Given the description of an element on the screen output the (x, y) to click on. 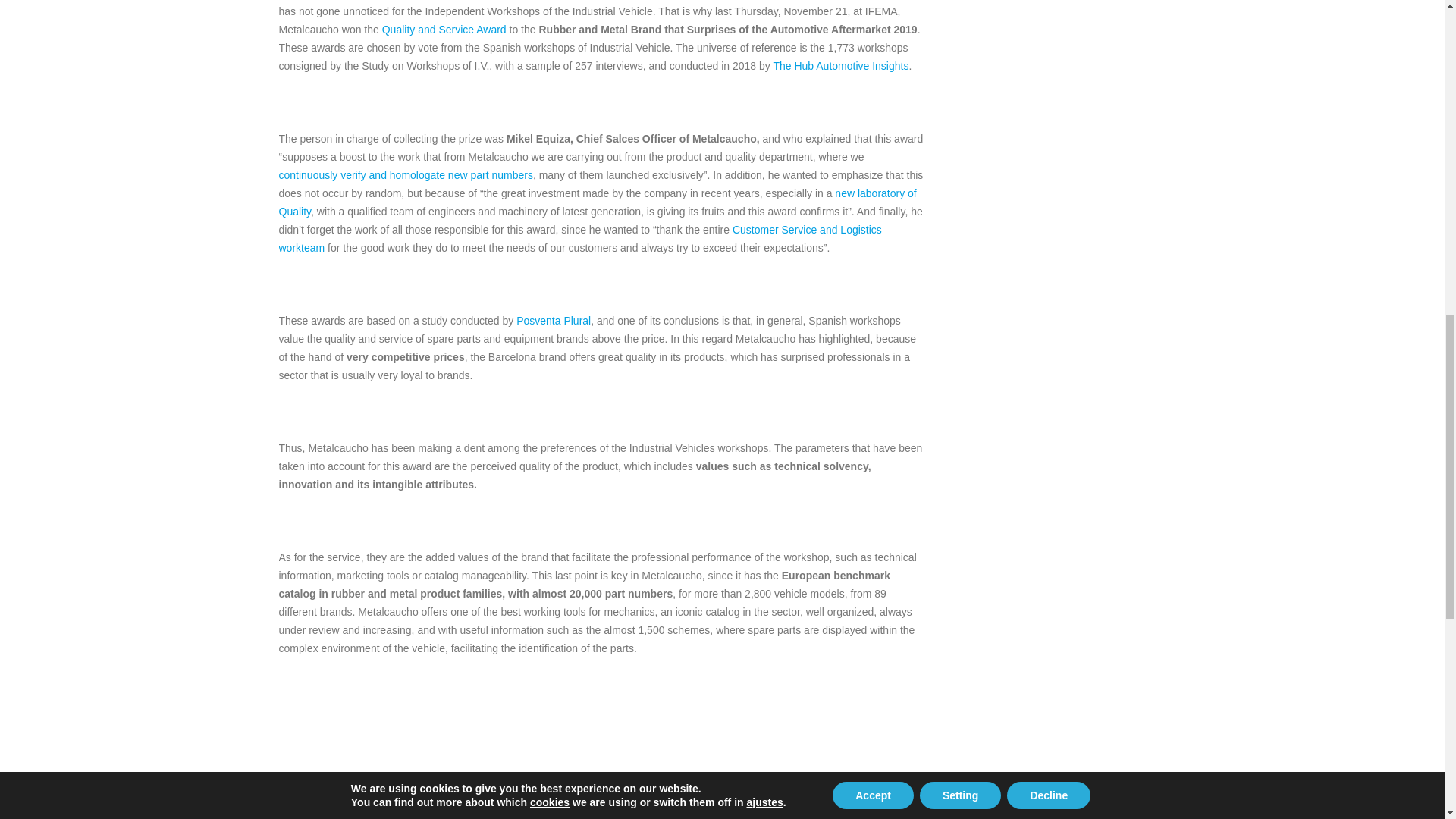
Posventa Plural (553, 320)
Customer Service and Logistics workteam (580, 238)
new laboratory of Quality (598, 202)
Quality and Service Award (443, 29)
continuously verify and homologate new part numbers (405, 174)
The Hub Automotive Insights (840, 65)
